Given the description of an element on the screen output the (x, y) to click on. 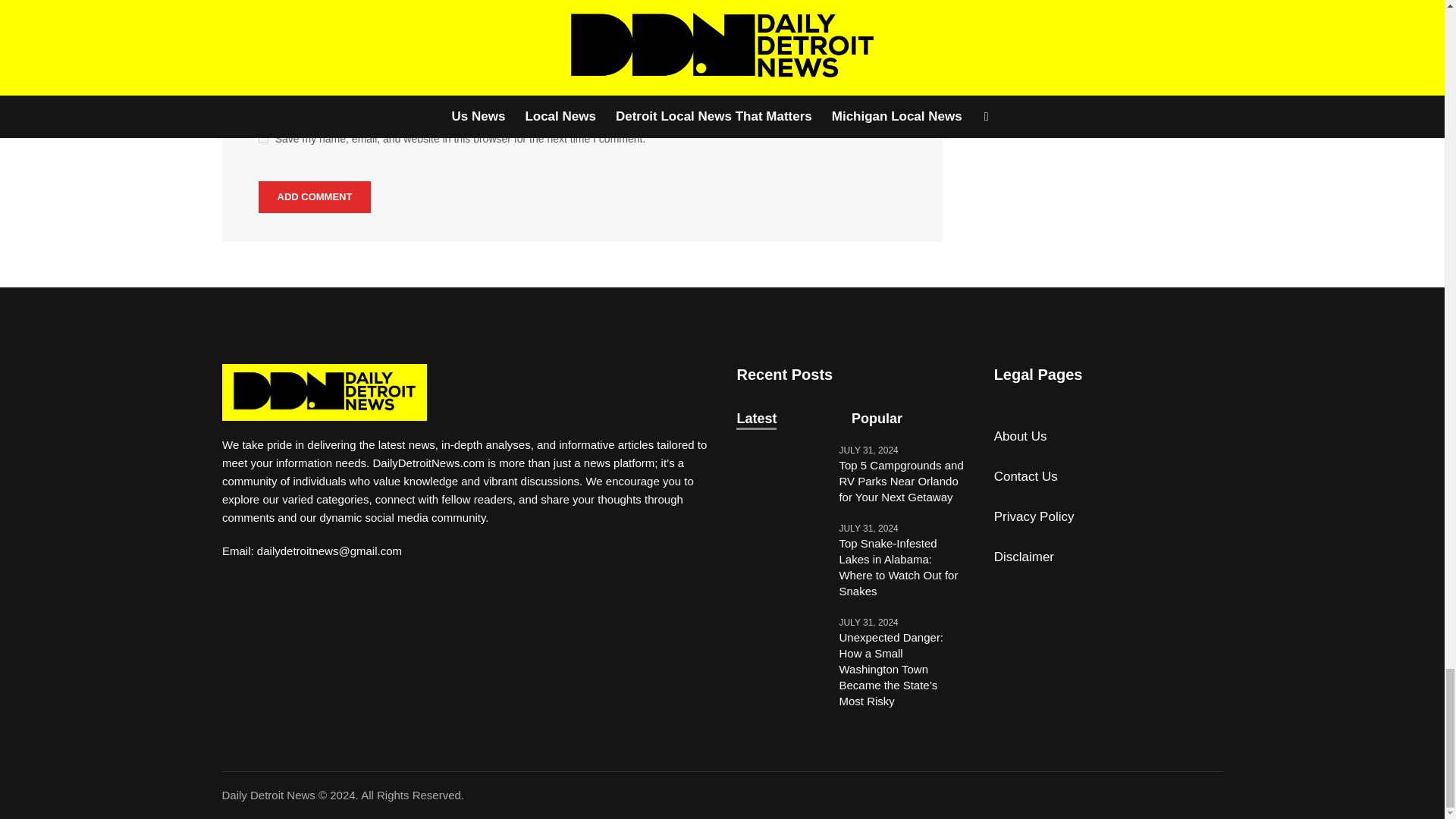
yes (263, 138)
Add Comment (315, 196)
